Given the description of an element on the screen output the (x, y) to click on. 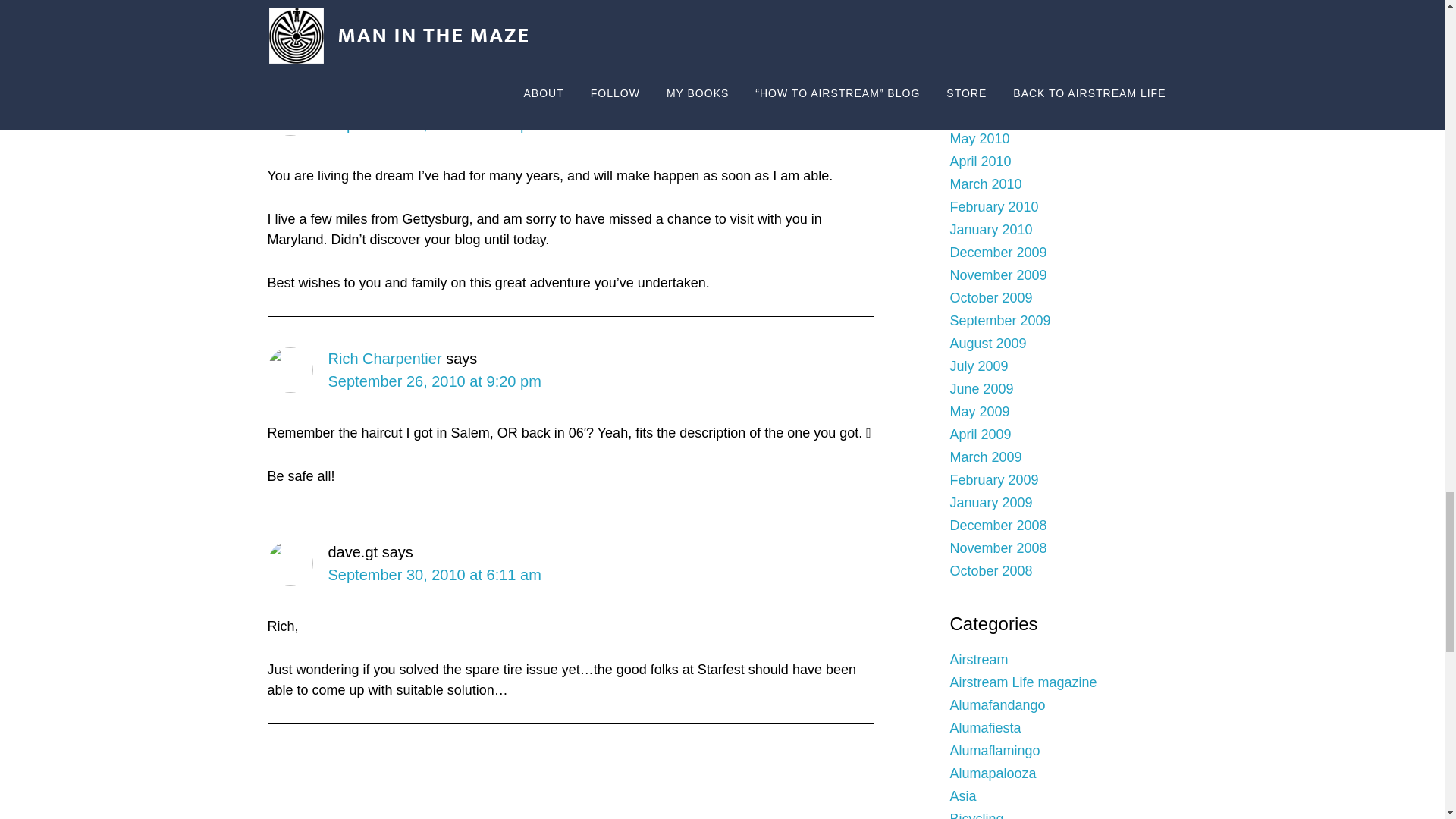
September 26, 2010 at 9:20 pm (433, 381)
Martha-Sofie (370, 101)
Rich Charpentier (384, 358)
September 25, 2010 at 1:56 pm (433, 124)
September 30, 2010 at 6:11 am (433, 574)
